Given the description of an element on the screen output the (x, y) to click on. 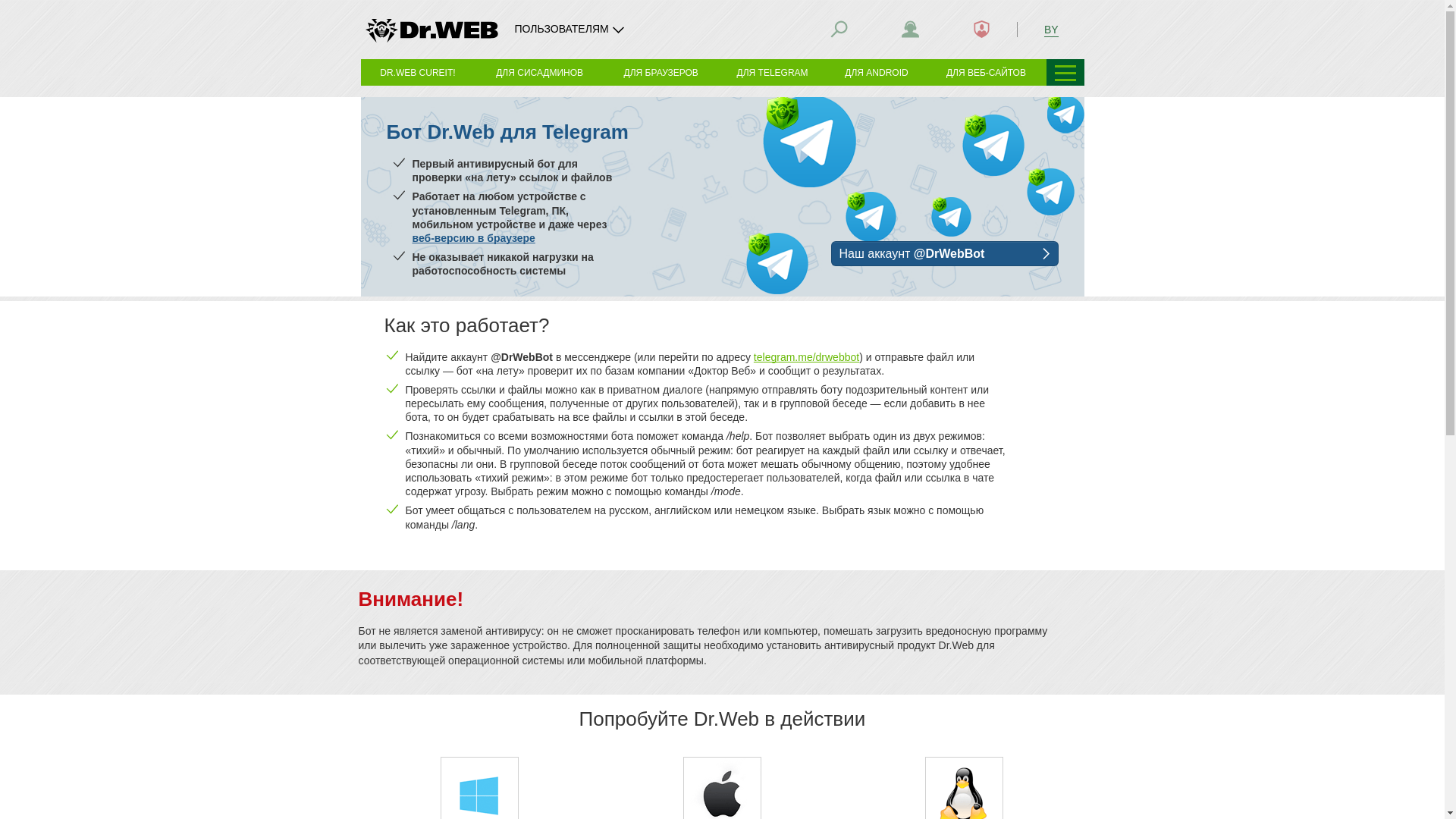
telegram.me/drwebbot Element type: text (806, 357)
BY Element type: text (1051, 28)
DR.WEB CUREIT! Element type: text (417, 72)
